Given the description of an element on the screen output the (x, y) to click on. 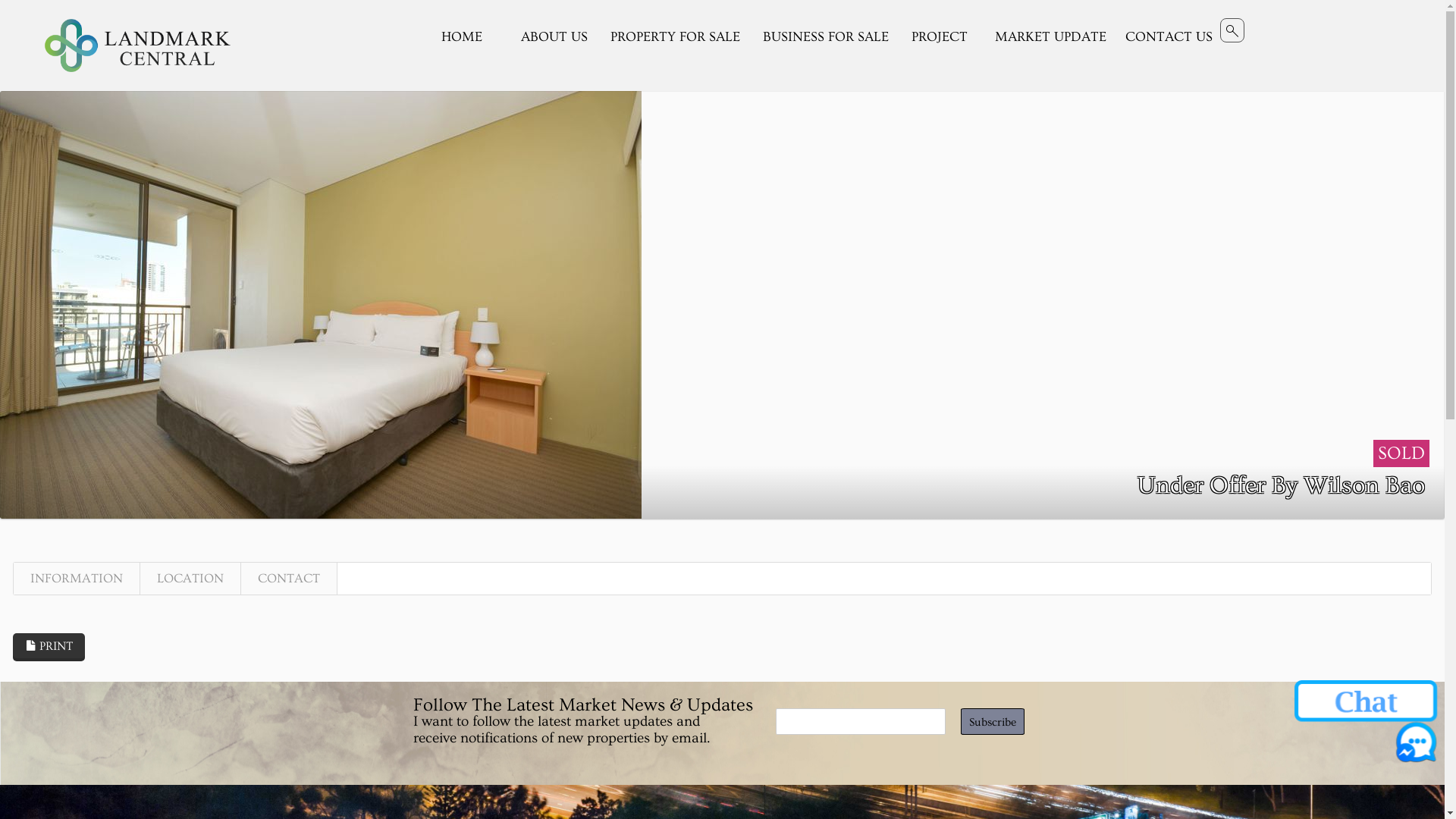
MARKET UPDATE Element type: text (1050, 37)
SOLD Element type: text (1400, 452)
CONTACT US Element type: text (1168, 37)
Subscribe Element type: text (991, 721)
PROPERTY FOR SALE Element type: text (674, 37)
Landmark Central Element type: hover (137, 45)
BUSINESS FOR SALE Element type: text (825, 37)
img00029 Element type: hover (320, 301)
PROJECT Element type: text (941, 37)
ABOUT US Element type: text (553, 37)
CONTACT Element type: text (288, 578)
LOCATION Element type: text (190, 578)
INFORMATION Element type: text (76, 578)
PRINT Element type: text (48, 647)
HOME Element type: text (471, 37)
